Given the description of an element on the screen output the (x, y) to click on. 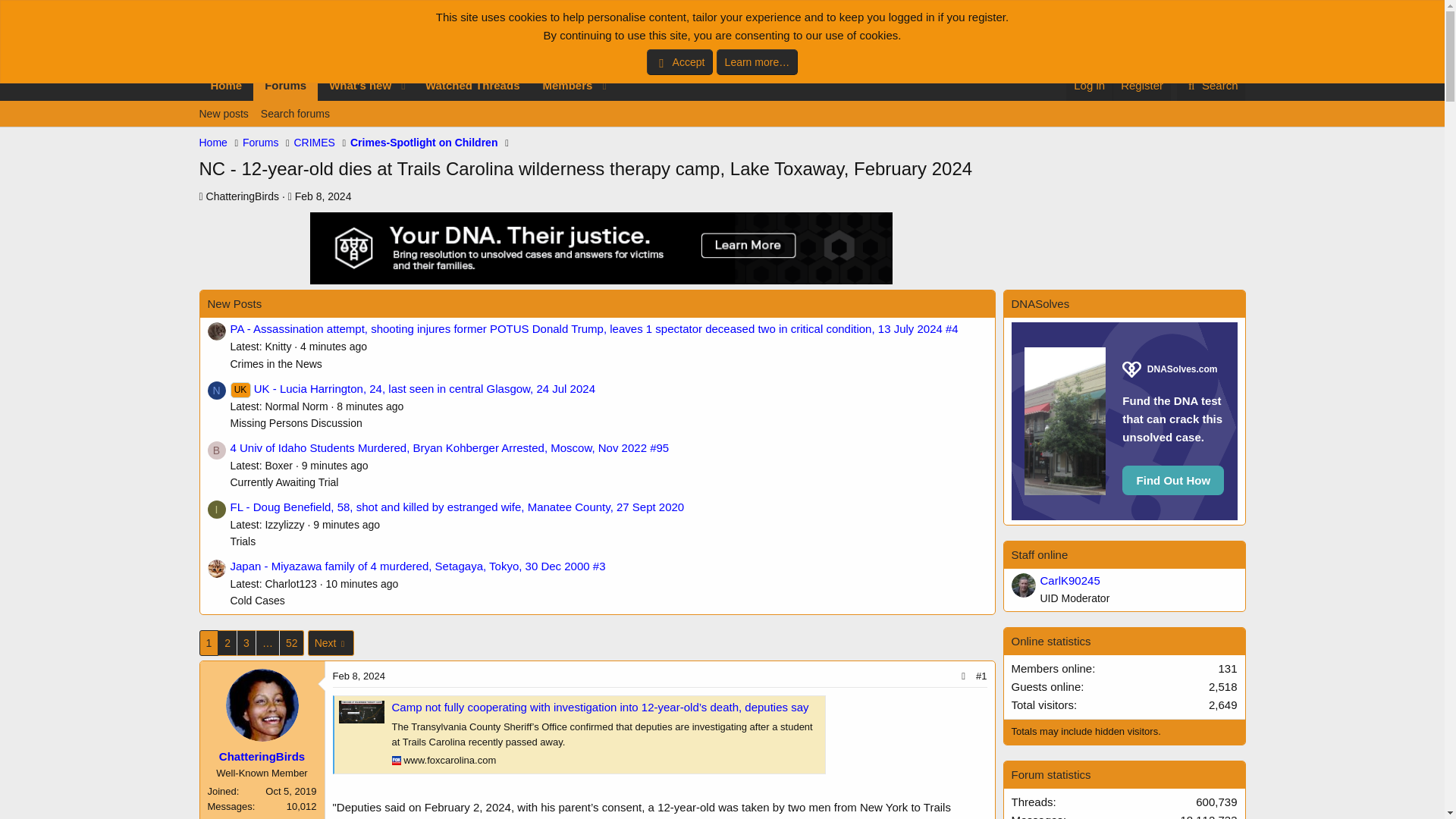
Jul 27, 2024 at 2:35 PM (406, 102)
ChatteringBirds (332, 346)
CRIMES (242, 196)
Forums (314, 142)
Watched Threads (285, 85)
Jul 27, 2024 at 2:29 PM (472, 85)
Forums (721, 130)
Register (334, 465)
New Posts (260, 142)
Jul 27, 2024 at 2:28 PM (1141, 85)
Log in (235, 303)
Jul 27, 2024 at 2:29 PM (362, 583)
Members (1088, 85)
